Given the description of an element on the screen output the (x, y) to click on. 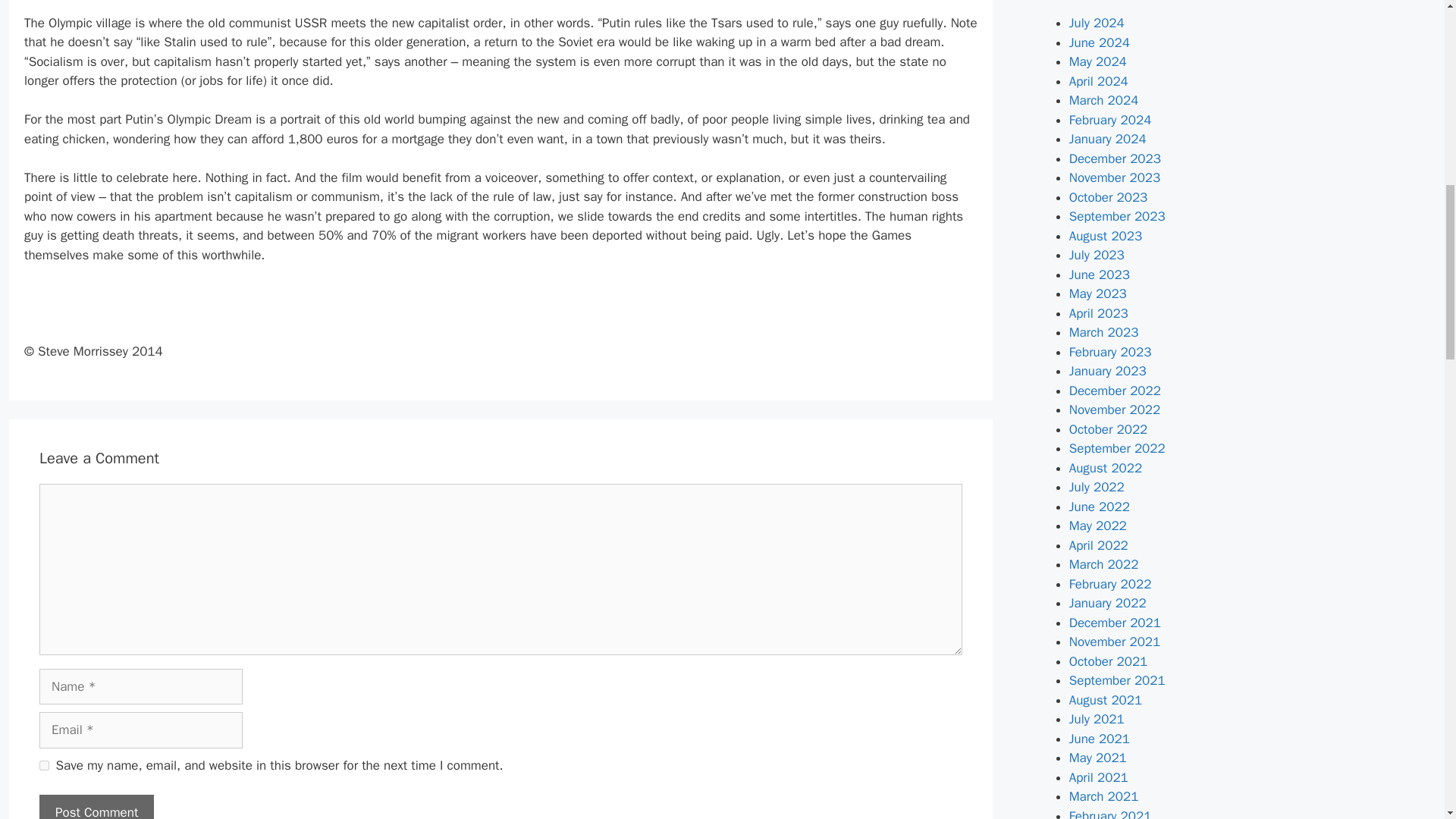
yes (44, 765)
Post Comment (96, 806)
Post Comment (96, 806)
